Given the description of an element on the screen output the (x, y) to click on. 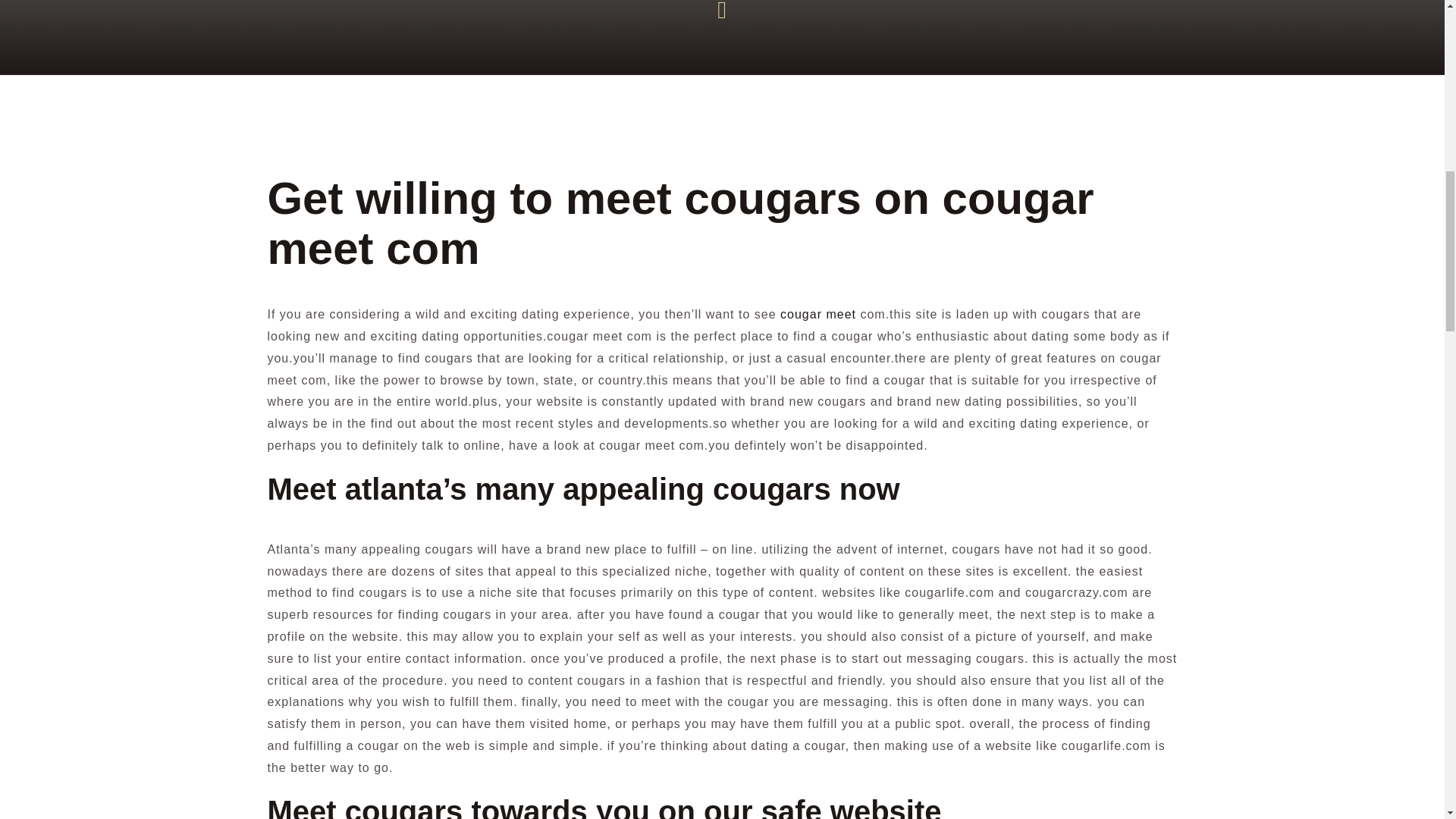
cougar meet (818, 314)
